Given the description of an element on the screen output the (x, y) to click on. 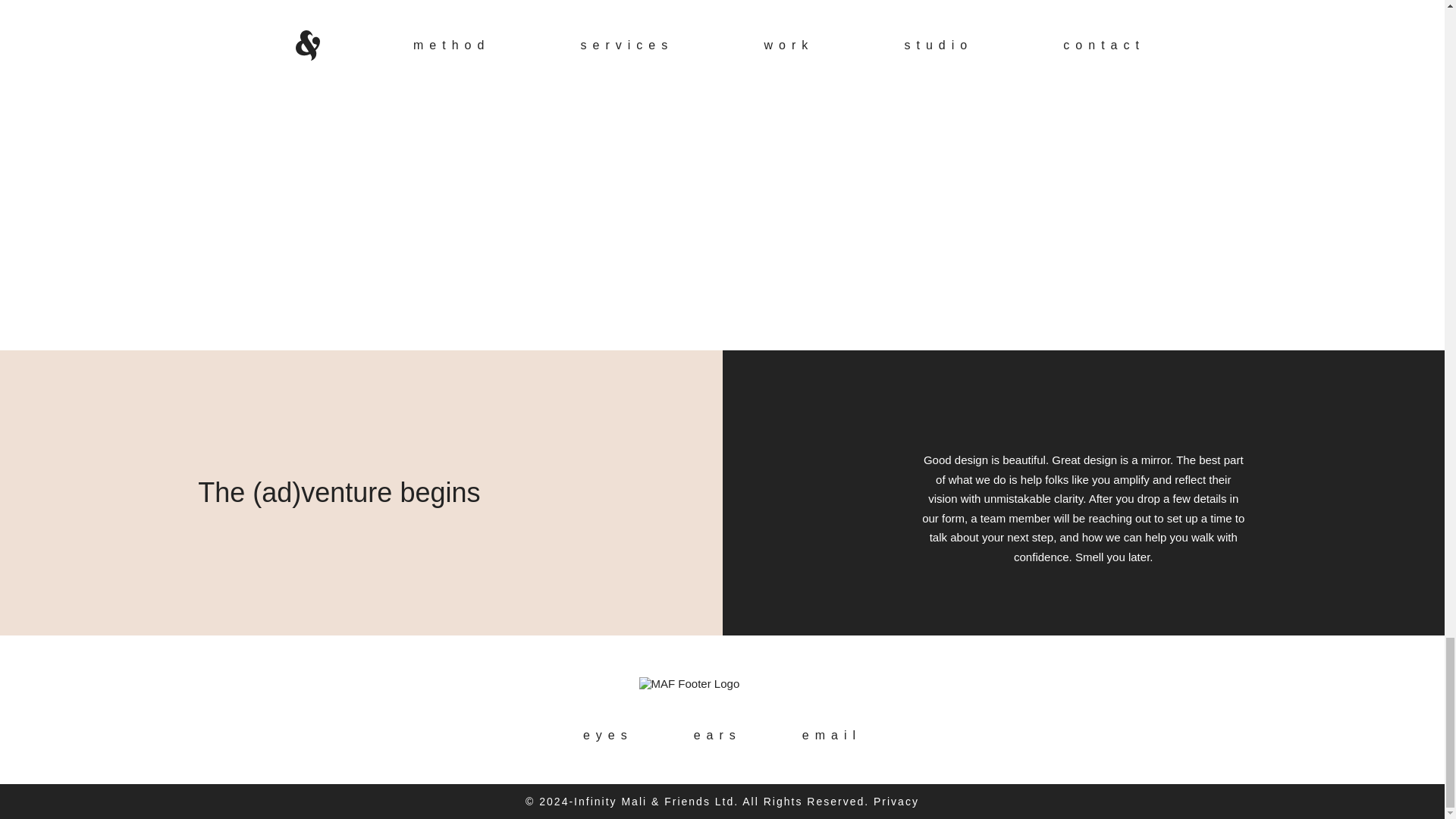
ears (717, 735)
eyes (608, 735)
email (831, 735)
Privacy (895, 801)
